Given the description of an element on the screen output the (x, y) to click on. 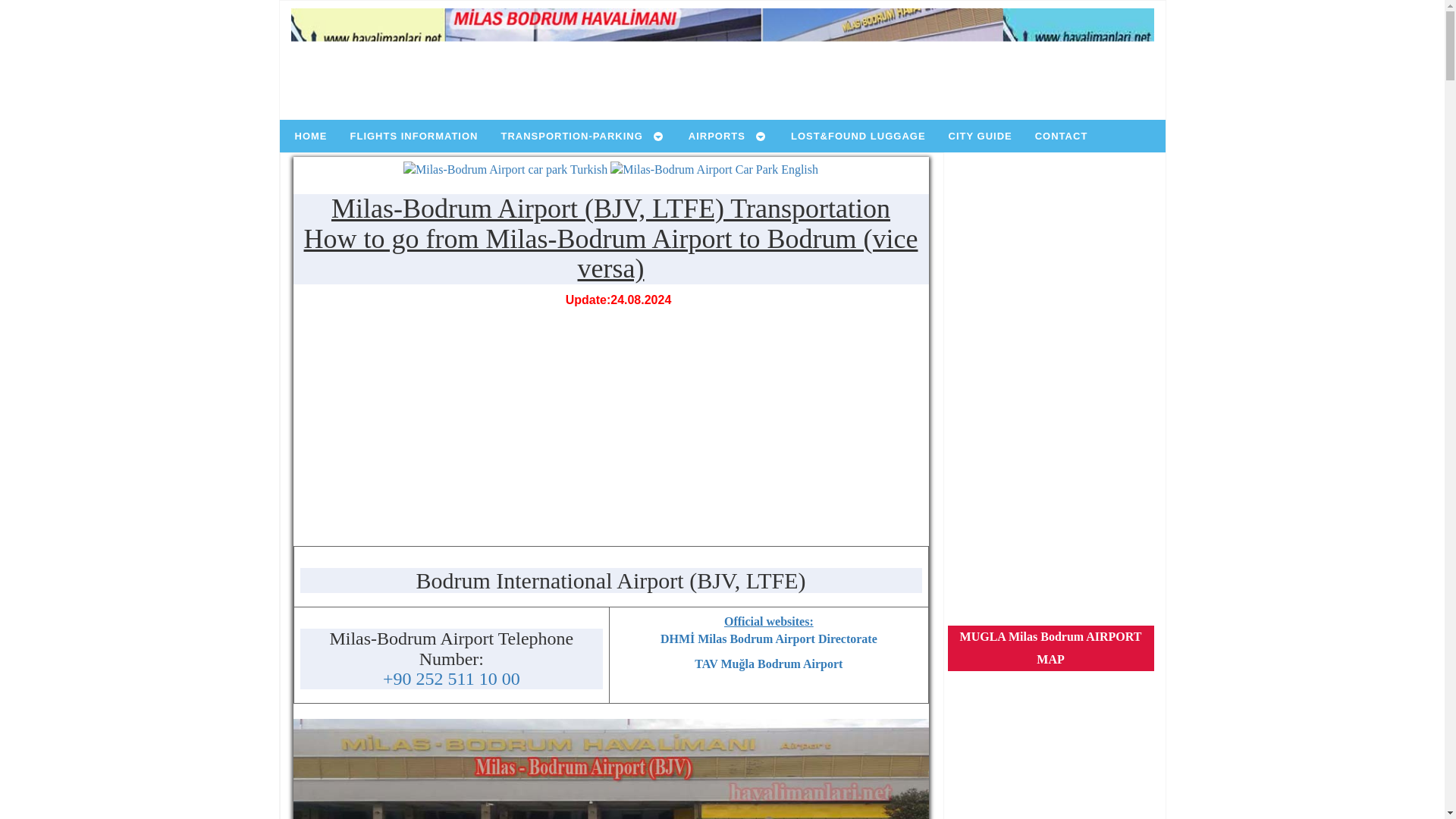
CITY GUIDE (976, 135)
TRANSPORTION-PARKING (578, 135)
milas-bodrum airport car parking (610, 769)
CONTACT (1058, 135)
Milas-Bodrum Airport Parking Turkish (505, 170)
HOME (306, 135)
tav bodrum bjv airport  (768, 663)
Milas  Bodrum Airport (722, 62)
AIRPORTS (724, 135)
Milas-Bodrum Airport Parking English (714, 170)
